Given the description of an element on the screen output the (x, y) to click on. 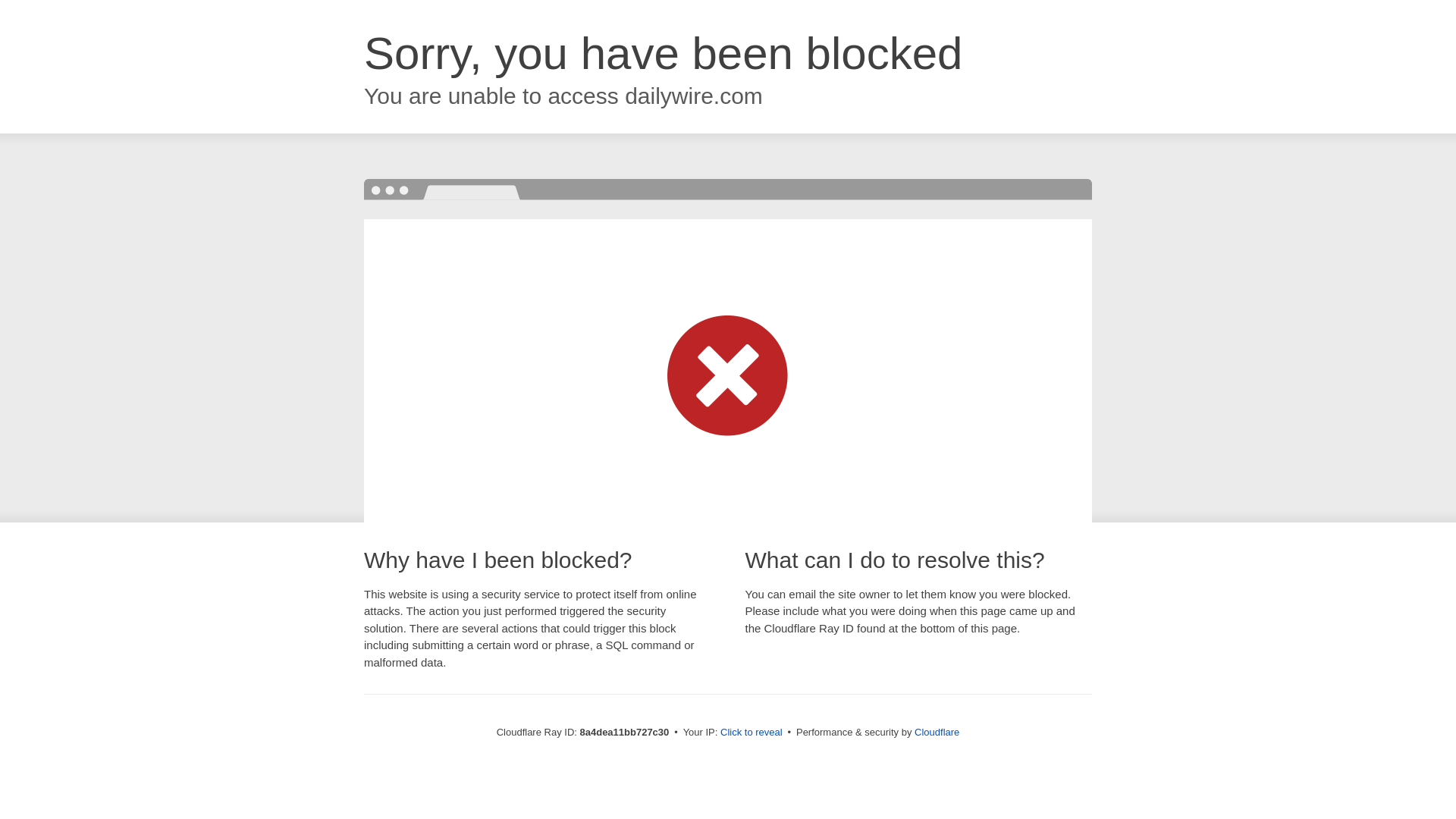
Click to reveal (751, 732)
Cloudflare (936, 731)
